Given the description of an element on the screen output the (x, y) to click on. 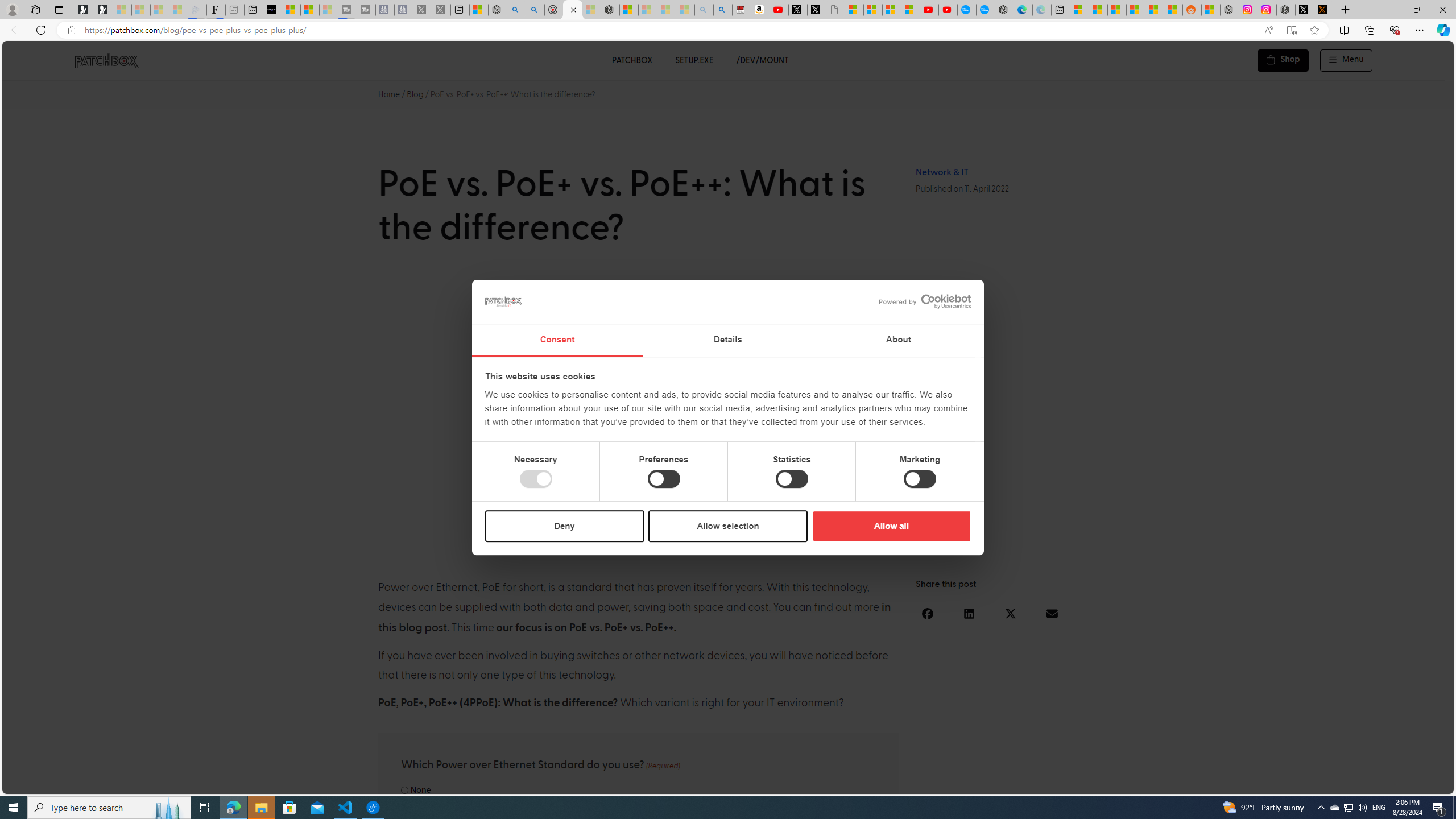
Language switcher : Romanian (1368, 782)
Language switcher : French (1243, 782)
Gloom - YouTube (929, 9)
Language switcher : Danish (1311, 782)
Home (389, 94)
Details (727, 340)
Newsletter Sign Up (102, 9)
Amazon Echo Dot PNG - Search Images (722, 9)
